Given the description of an element on the screen output the (x, y) to click on. 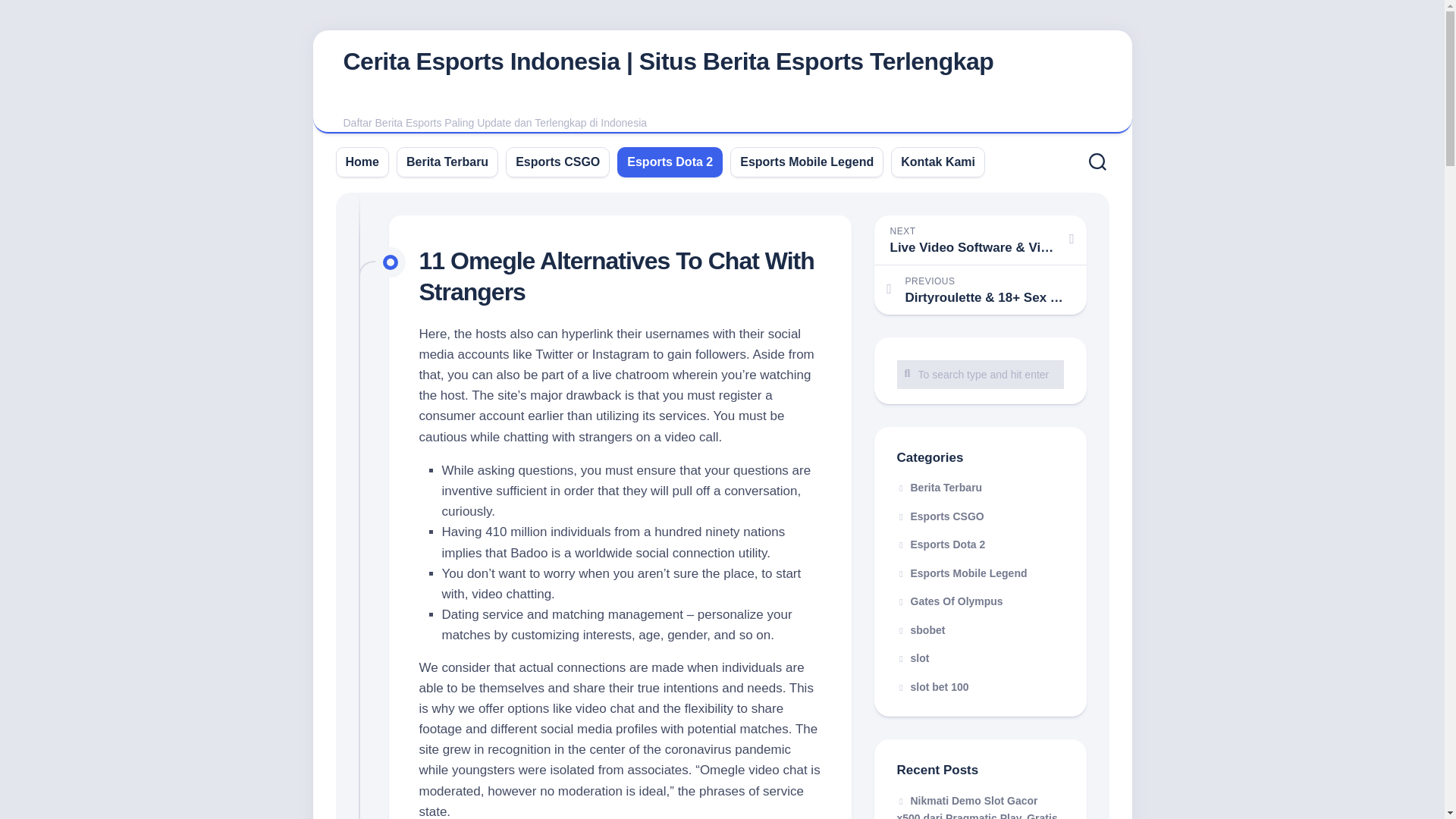
Esports Dota 2 (940, 544)
Gates Of Olympus (949, 601)
To search type and hit enter (979, 373)
slot bet 100 (932, 686)
Esports CSGO (940, 515)
To search type and hit enter (979, 373)
Berita Terbaru (446, 161)
Home (362, 161)
Berita Terbaru (938, 487)
Esports CSGO (557, 161)
